Given the description of an element on the screen output the (x, y) to click on. 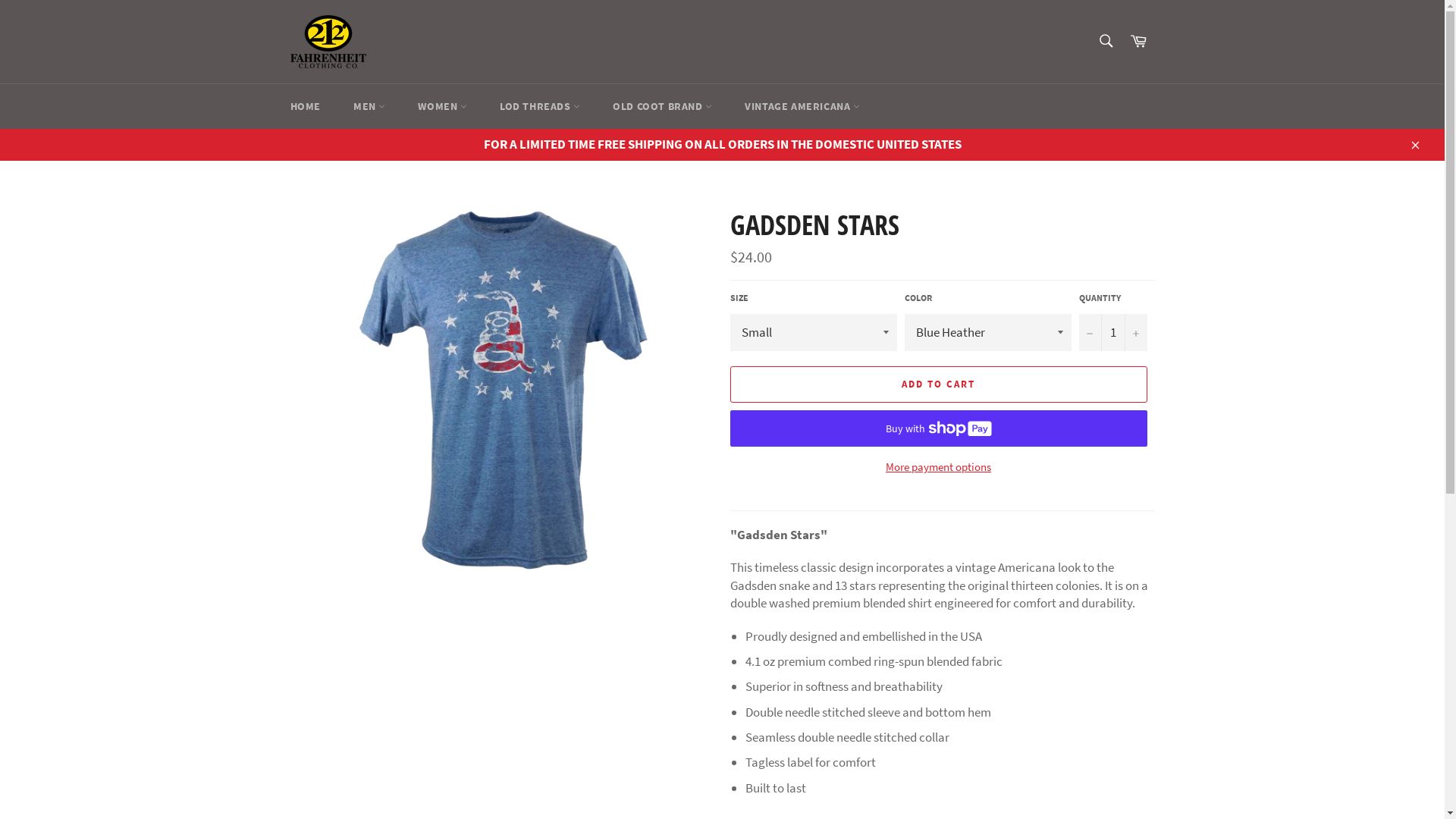
ADD TO CART Element type: text (937, 384)
MEN Element type: text (369, 106)
Close Element type: text (1414, 144)
WOMEN Element type: text (442, 106)
Search Element type: text (1105, 40)
Cart Element type: text (1138, 41)
+ Element type: text (1134, 332)
LOD THREADS Element type: text (539, 106)
VINTAGE AMERICANA Element type: text (802, 106)
HOME Element type: text (304, 106)
OLD COOT BRAND Element type: text (662, 106)
More payment options Element type: text (937, 467)
